Given the description of an element on the screen output the (x, y) to click on. 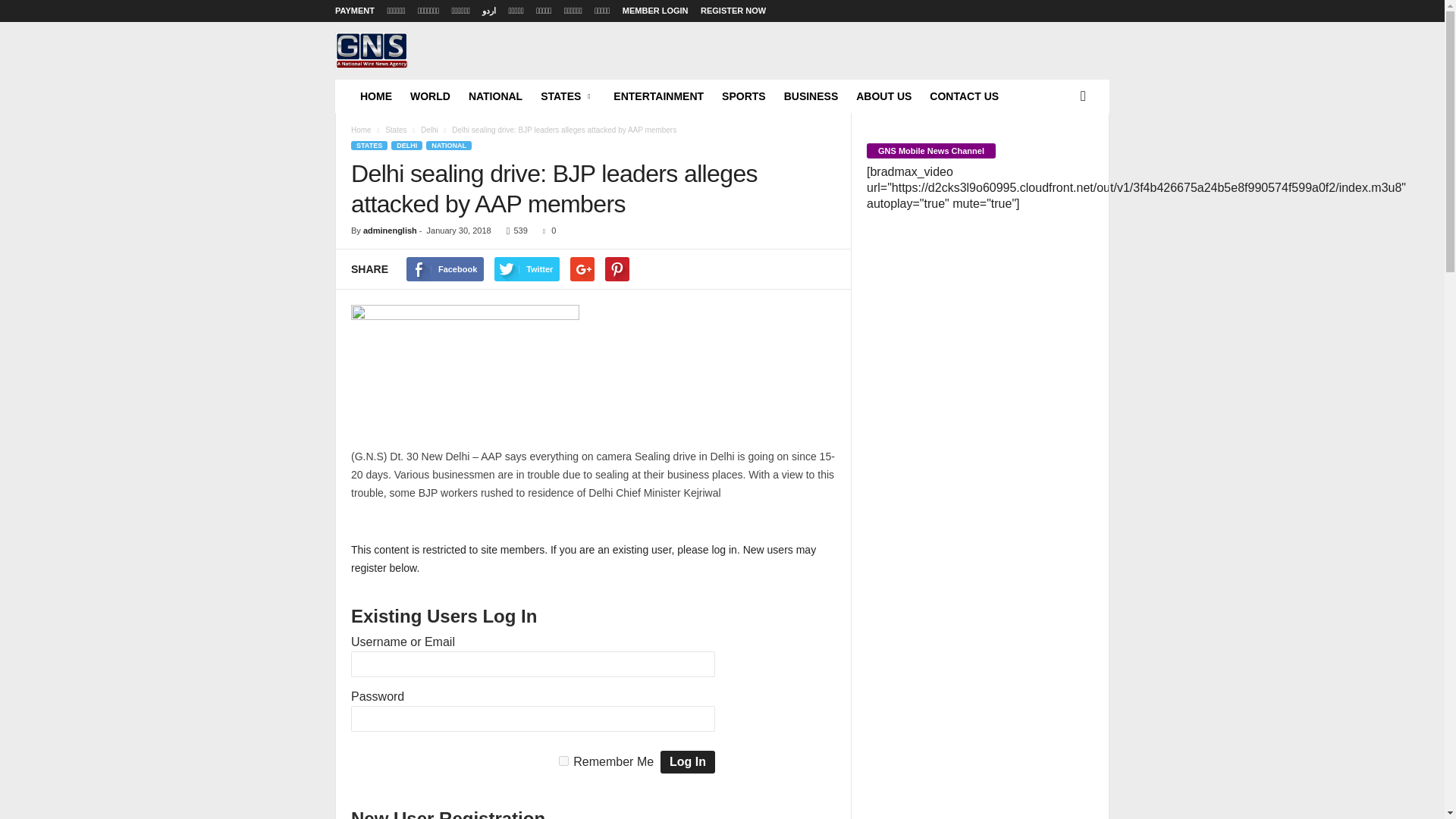
PAYMENT (354, 10)
REGISTER NOW (732, 10)
GNS News (437, 70)
View all posts in States (395, 130)
MEMBER LOGIN (655, 10)
BJP-alleges (464, 367)
Log In (687, 762)
View all posts in Delhi (429, 130)
forever (564, 760)
GNS News (370, 50)
